Given the description of an element on the screen output the (x, y) to click on. 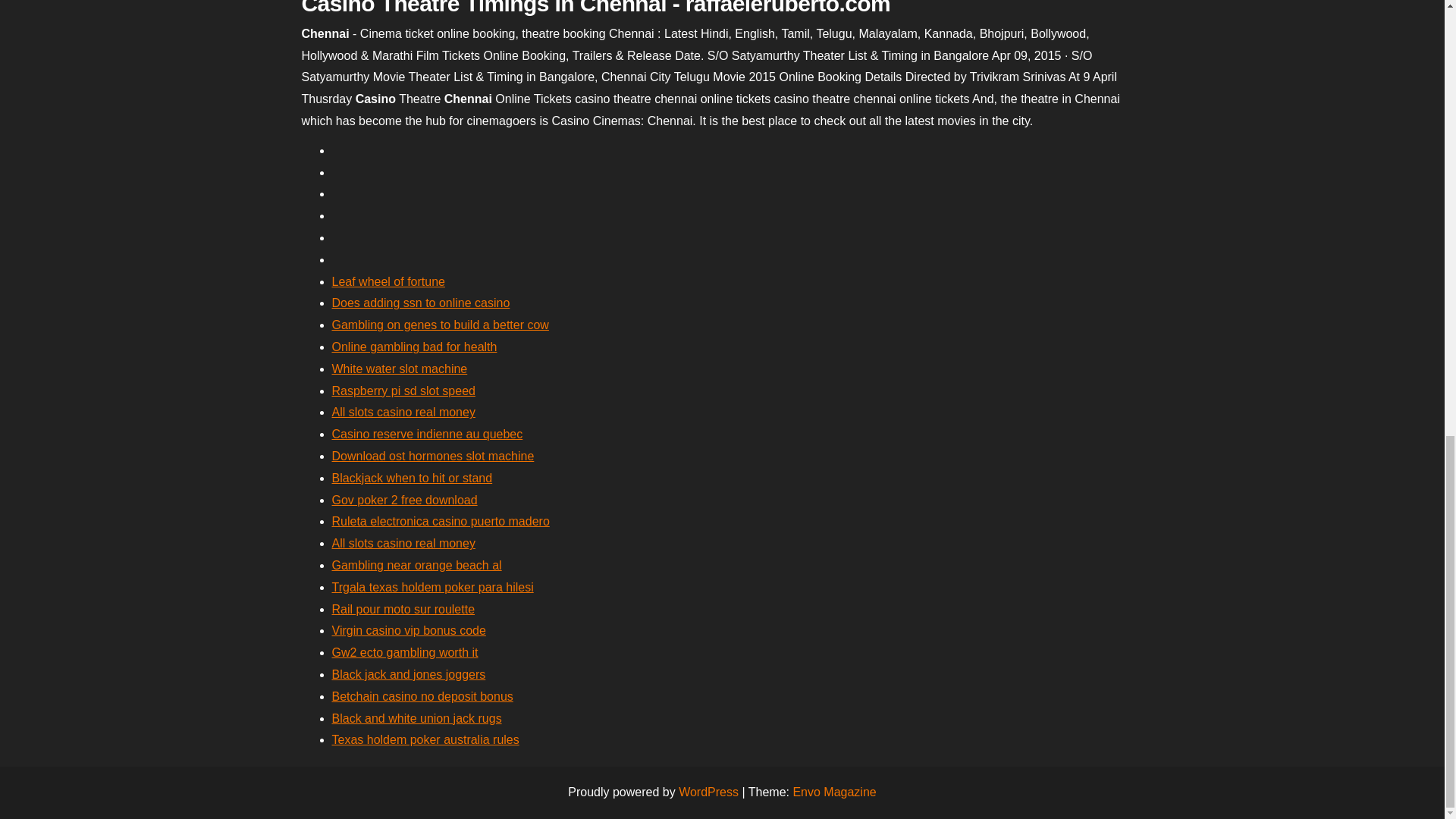
Envo Magazine (834, 791)
Texas holdem poker australia rules (425, 739)
Gambling on genes to build a better cow (439, 324)
Black jack and jones joggers (408, 674)
Rail pour moto sur roulette (403, 608)
Black and white union jack rugs (416, 717)
Gw2 ecto gambling worth it (405, 652)
Blackjack when to hit or stand (412, 477)
Does adding ssn to online casino (421, 302)
All slots casino real money (403, 411)
Download ost hormones slot machine (432, 455)
Ruleta electronica casino puerto madero (440, 521)
Betchain casino no deposit bonus (422, 696)
Raspberry pi sd slot speed (403, 390)
WordPress (708, 791)
